Given the description of an element on the screen output the (x, y) to click on. 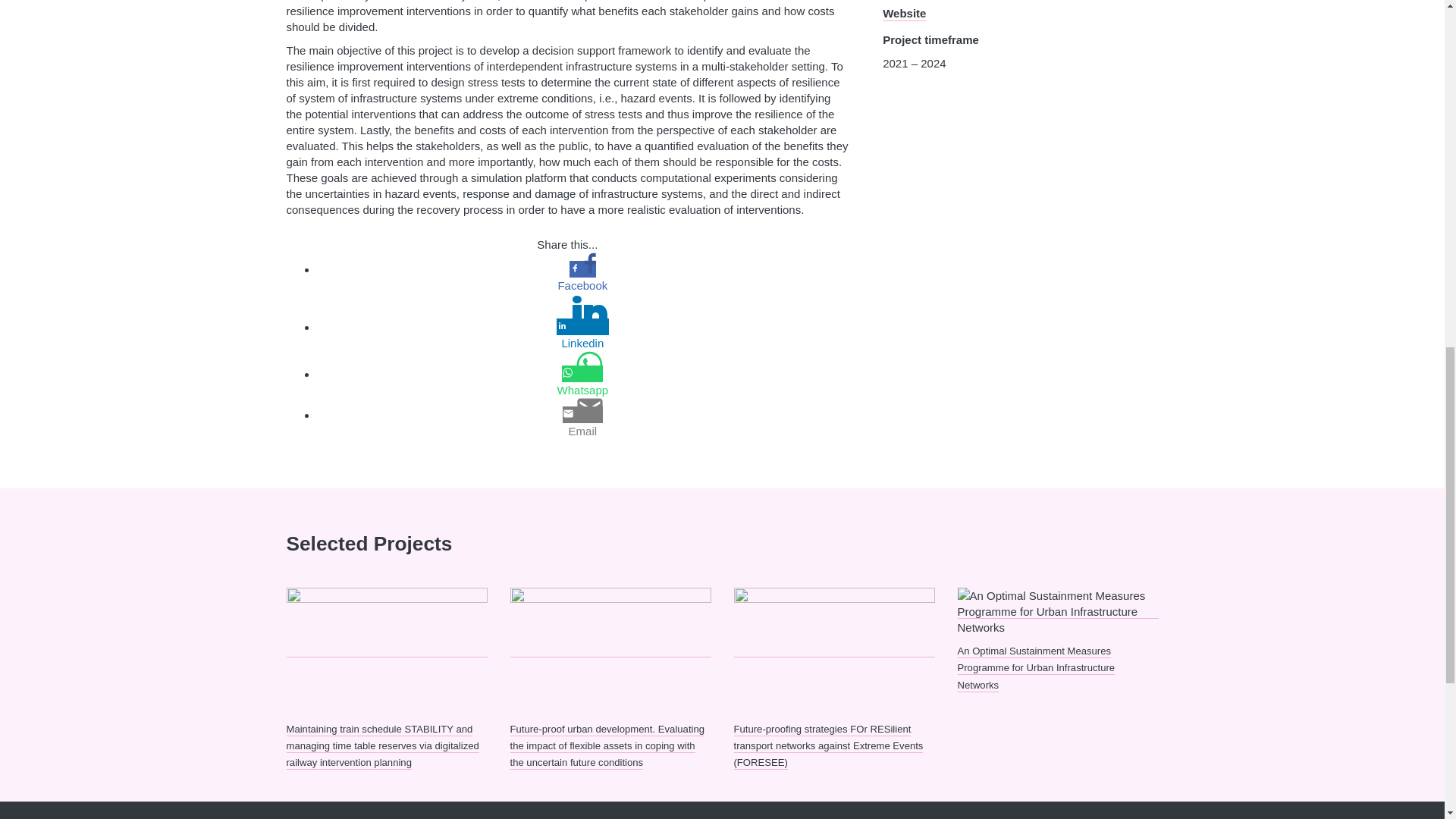
Email (582, 430)
Whatsapp (582, 390)
Facebook (582, 285)
Linkedin (582, 342)
